Given the description of an element on the screen output the (x, y) to click on. 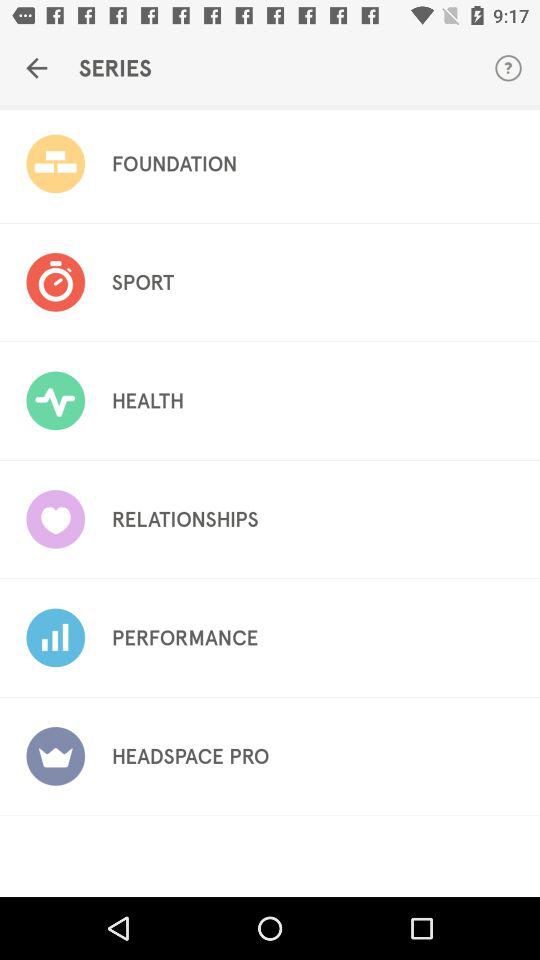
swipe to foundation (174, 164)
